Given the description of an element on the screen output the (x, y) to click on. 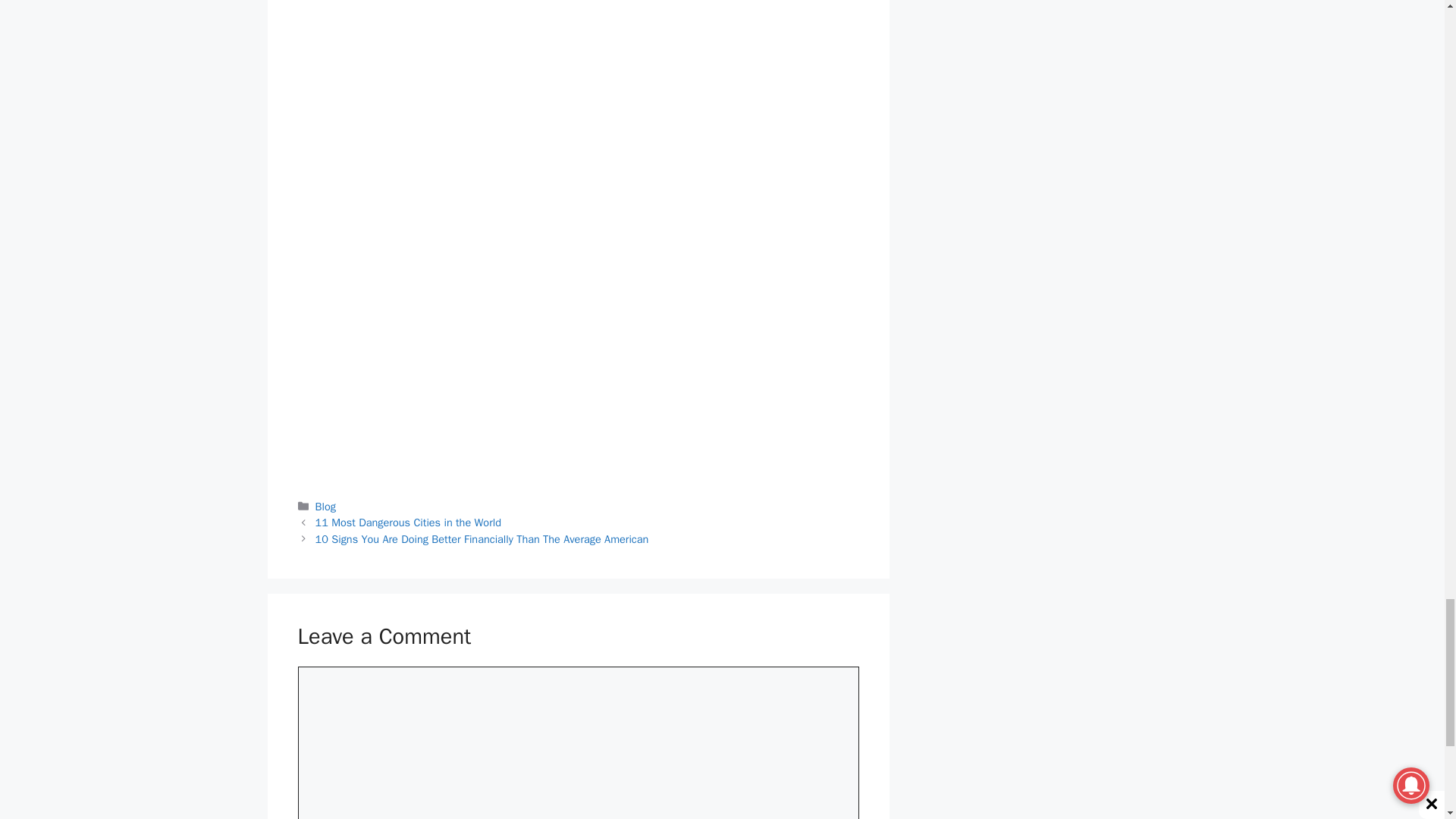
Blog (325, 505)
Advertisement (578, 13)
11 Most Dangerous Cities in the World (407, 522)
